Given the description of an element on the screen output the (x, y) to click on. 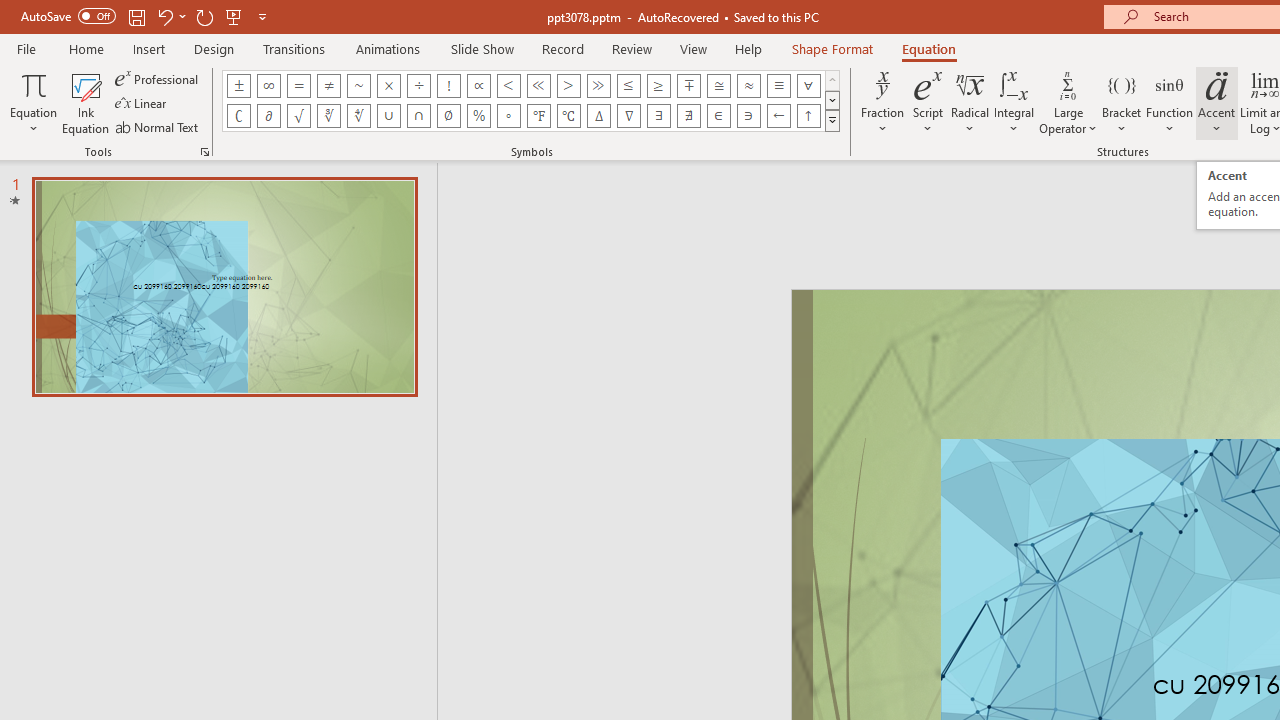
Equation Symbol Almost Equal To (Asymptotic To) (748, 85)
Equation Symbol Less Than or Equal To (628, 85)
Equation Symbol Degrees (508, 115)
Radical (970, 102)
Equation Symbol Multiplication Sign (388, 85)
Equation Symbol Degrees Fahrenheit (538, 115)
Equation Symbol Left Arrow (778, 115)
Professional (158, 78)
Equation Symbol Much Greater Than (598, 85)
